Given the description of an element on the screen output the (x, y) to click on. 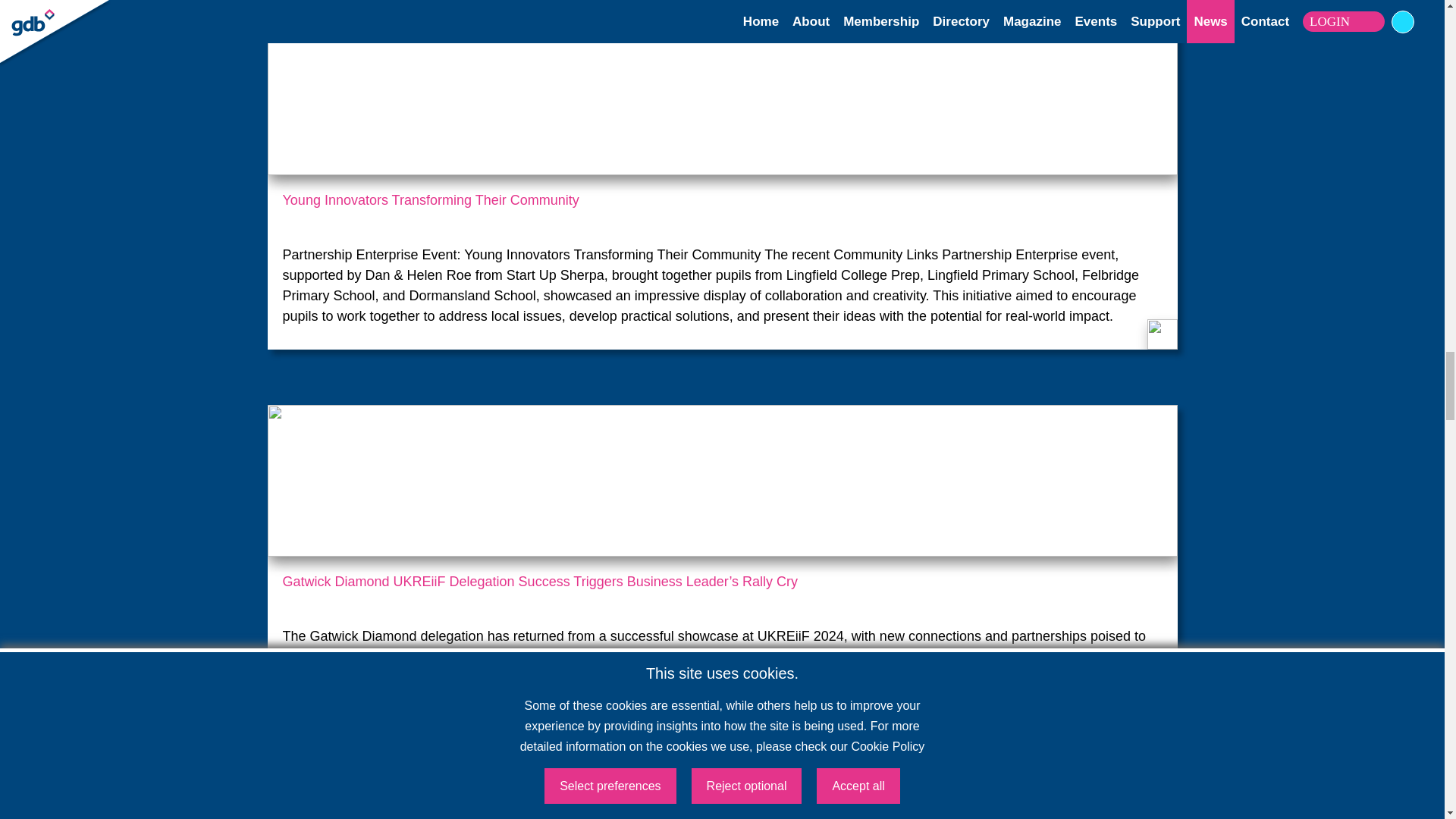
Young Innovators Transforming Their Community (721, 210)
